Given the description of an element on the screen output the (x, y) to click on. 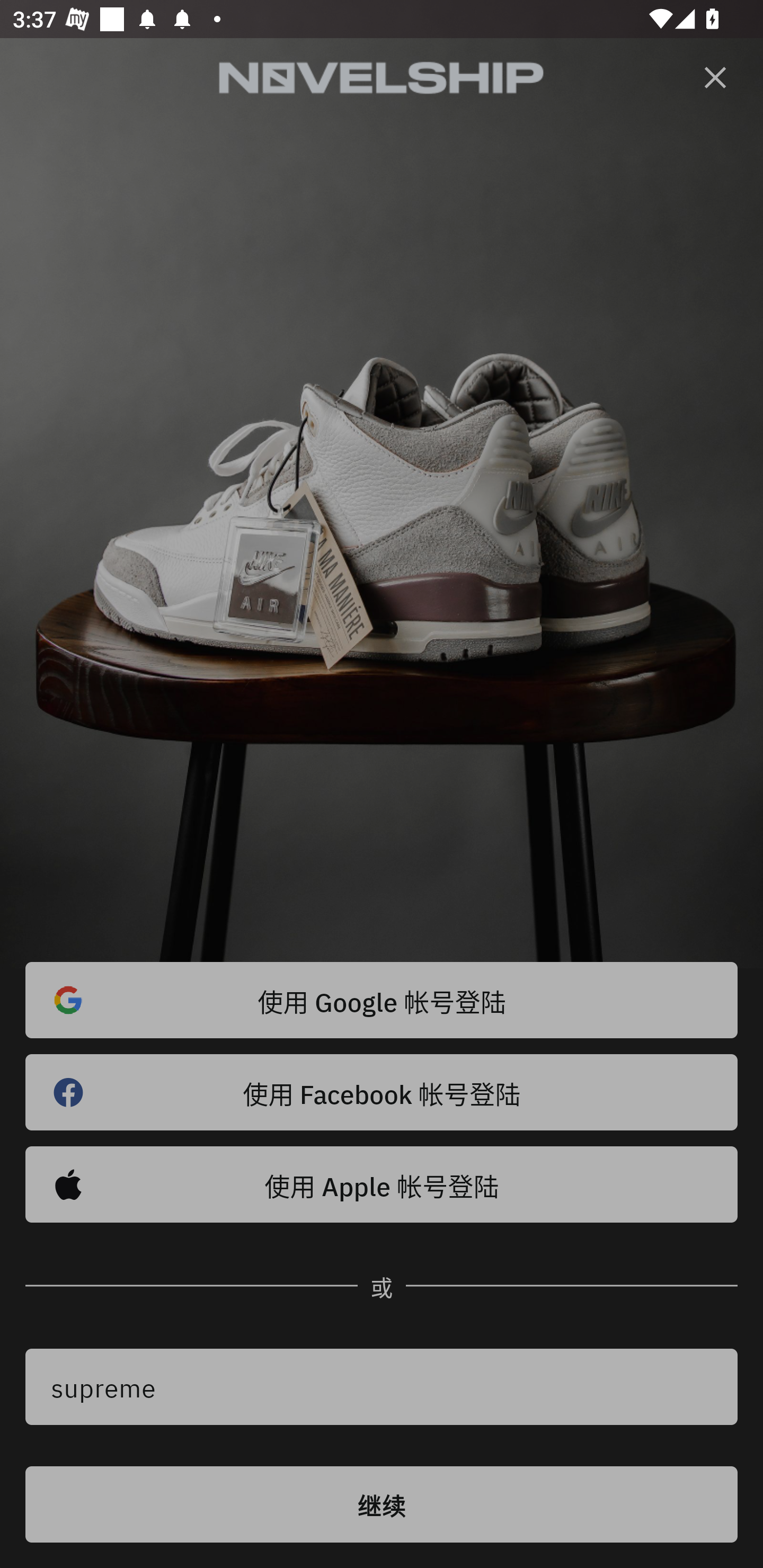
使用 Google 帐号登陆 (381, 1000)
使用 Facebook 帐号登陆 󰈌 (381, 1091)
 使用 Apple 帐号登陆 (381, 1184)
supreme (381, 1386)
继续 (381, 1504)
